Given the description of an element on the screen output the (x, y) to click on. 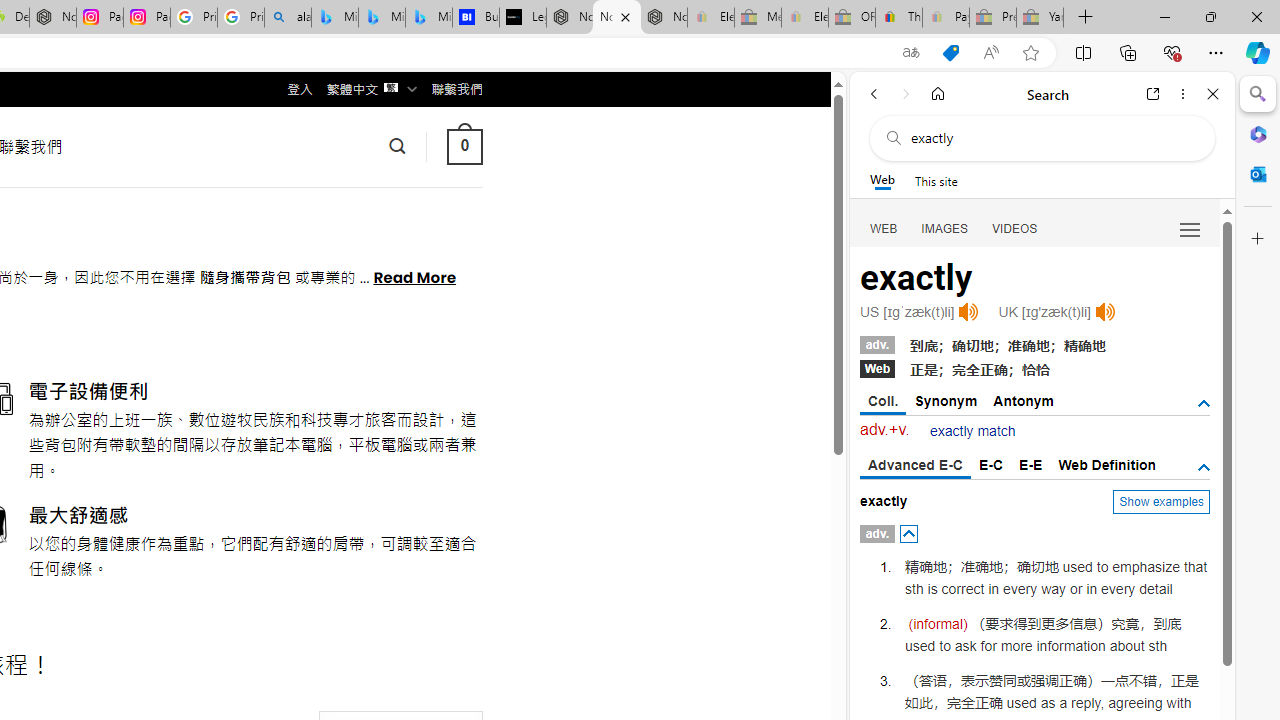
Search Filter, VIDEOS (1015, 228)
This site has coupons! Shopping in Microsoft Edge (950, 53)
 0  (464, 146)
Show translate options (910, 53)
Payments Terms of Use | eBay.com - Sleeping (945, 17)
